Given the description of an element on the screen output the (x, y) to click on. 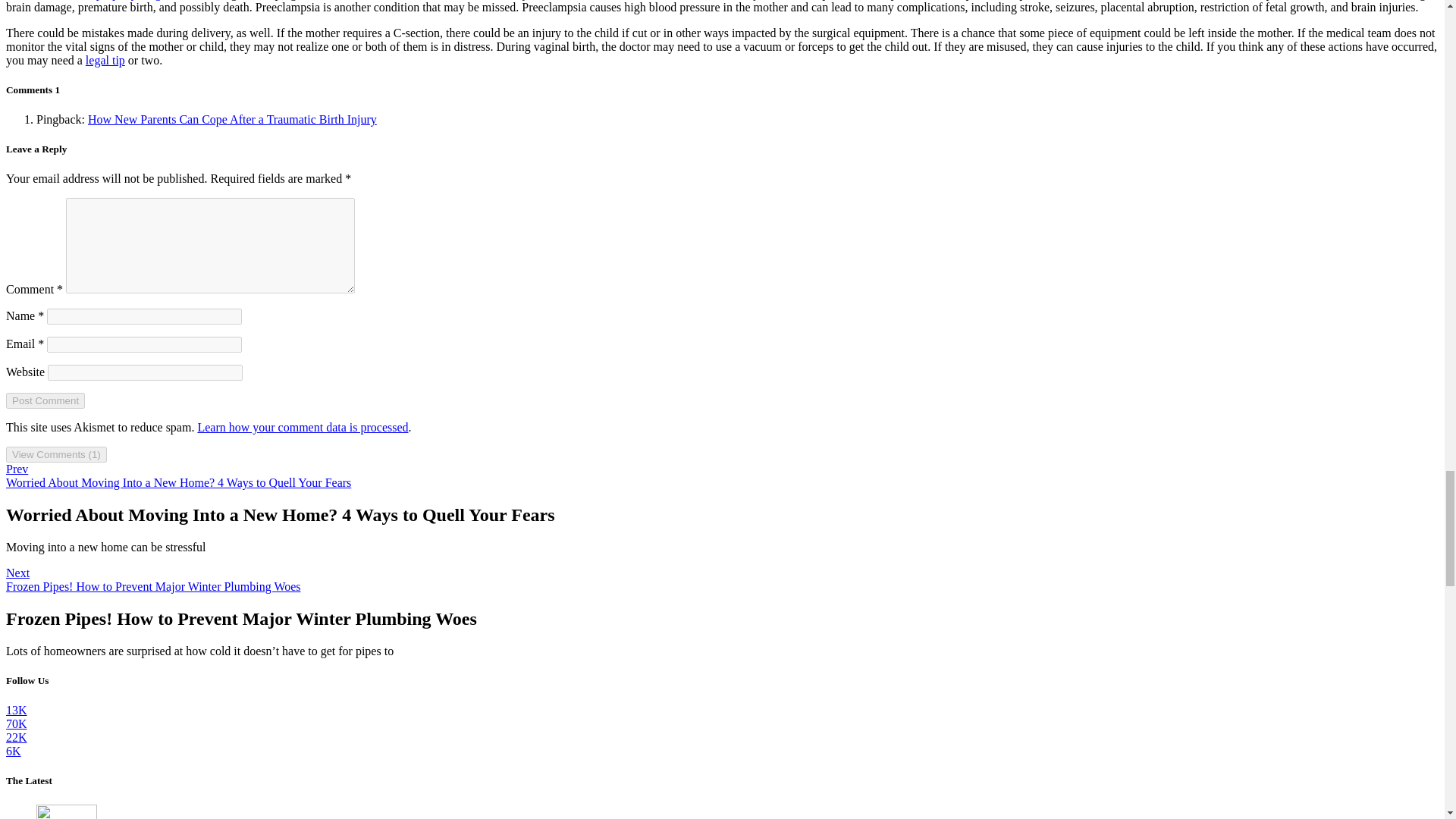
Post Comment (44, 400)
